Given the description of an element on the screen output the (x, y) to click on. 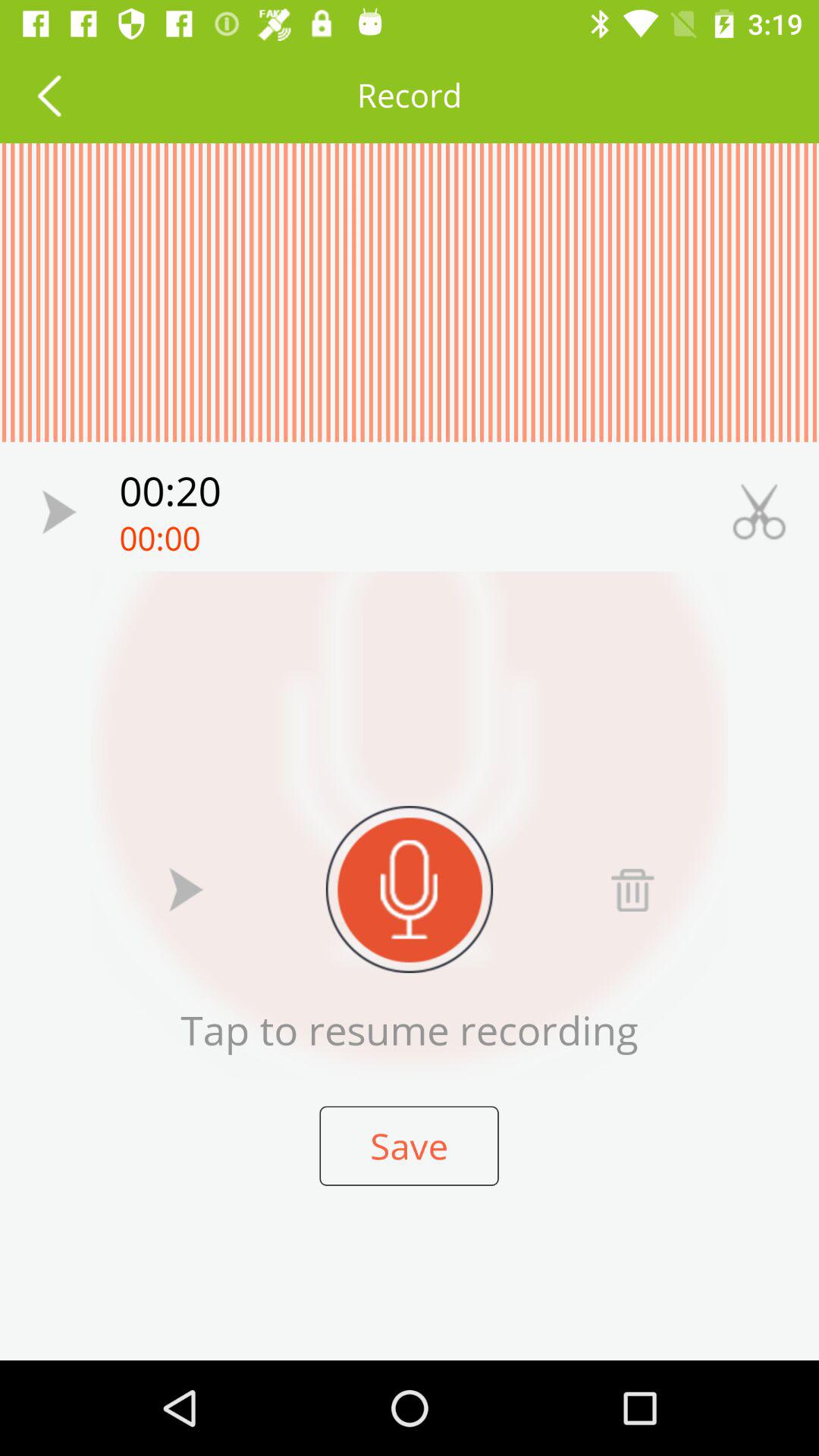
play recording (59, 511)
